Given the description of an element on the screen output the (x, y) to click on. 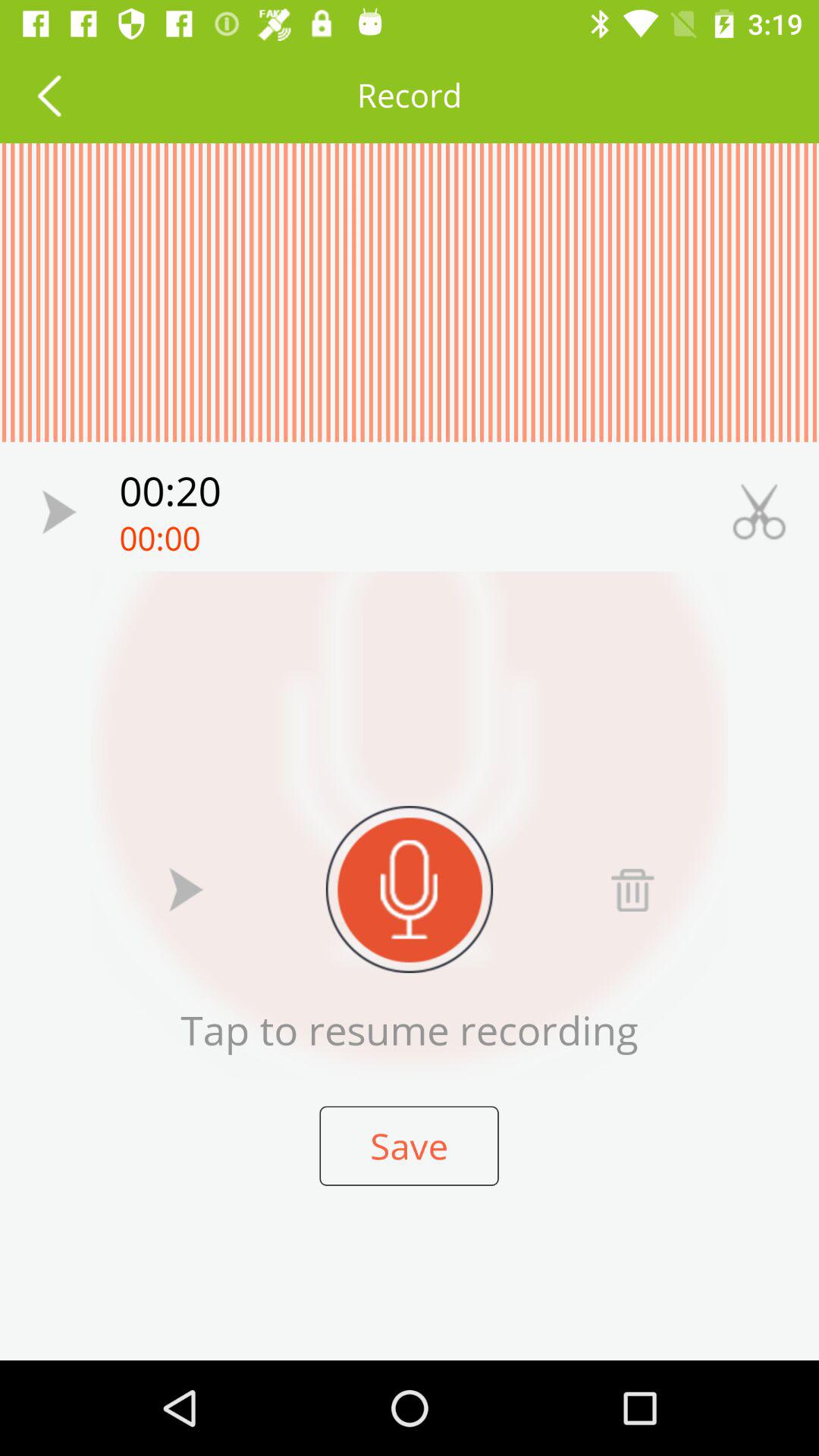
play recording (59, 511)
